Given the description of an element on the screen output the (x, y) to click on. 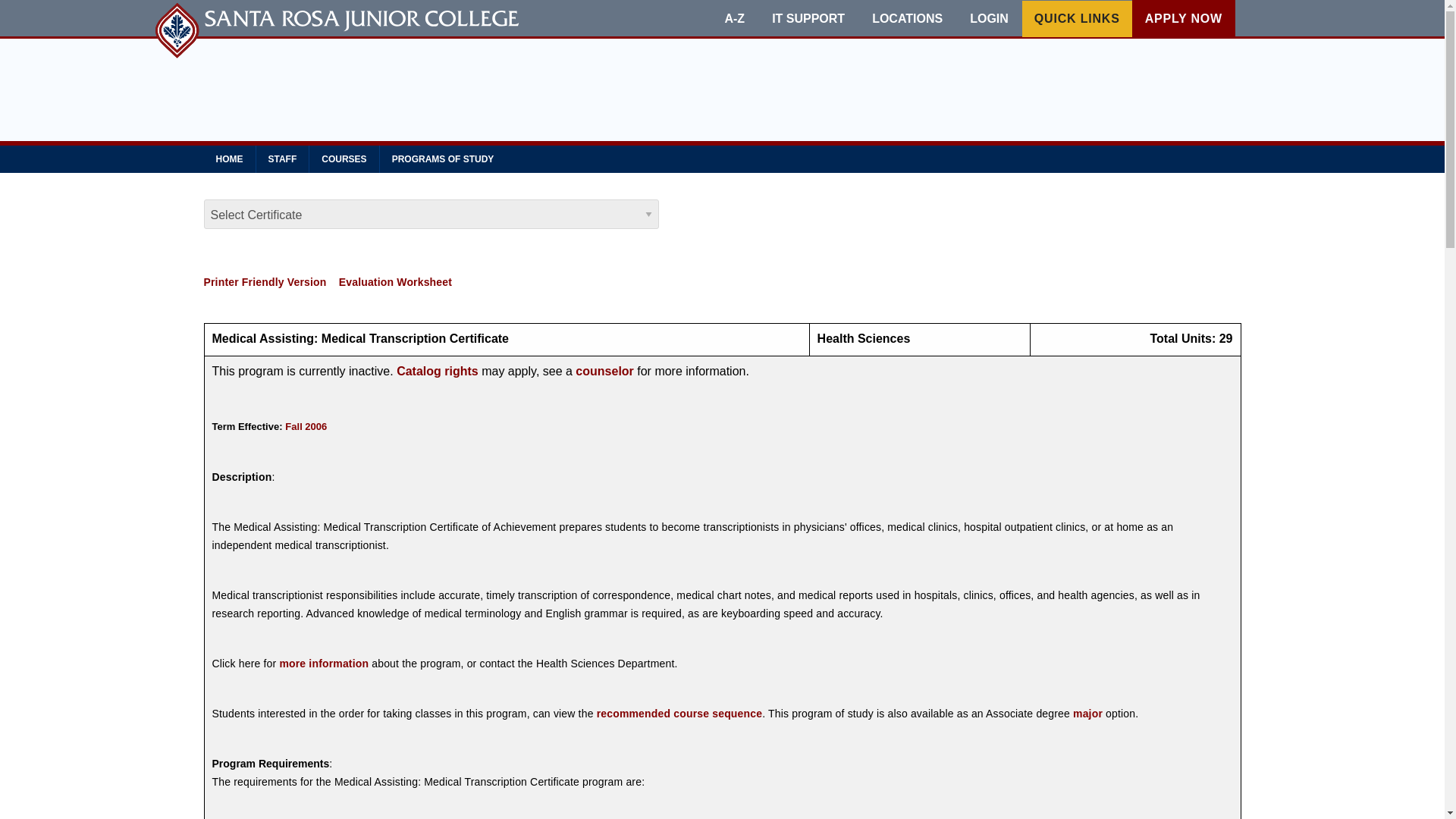
PROGRAMS OF STUDY (443, 158)
STAFF (282, 158)
HOME (228, 158)
COURSES (343, 158)
IT SUPPORT (807, 19)
A-Z (733, 19)
